Given the description of an element on the screen output the (x, y) to click on. 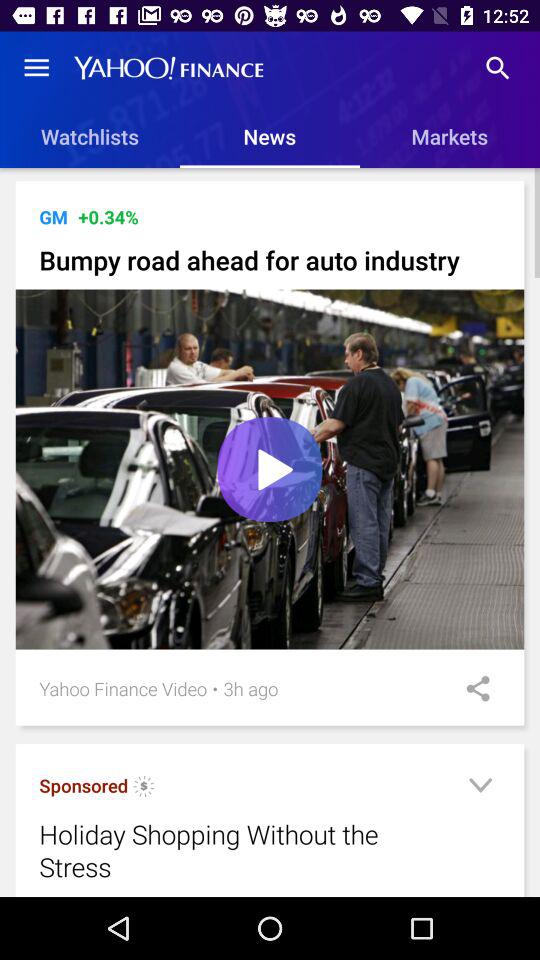
click the item below the bumpy road ahead (269, 468)
